Given the description of an element on the screen output the (x, y) to click on. 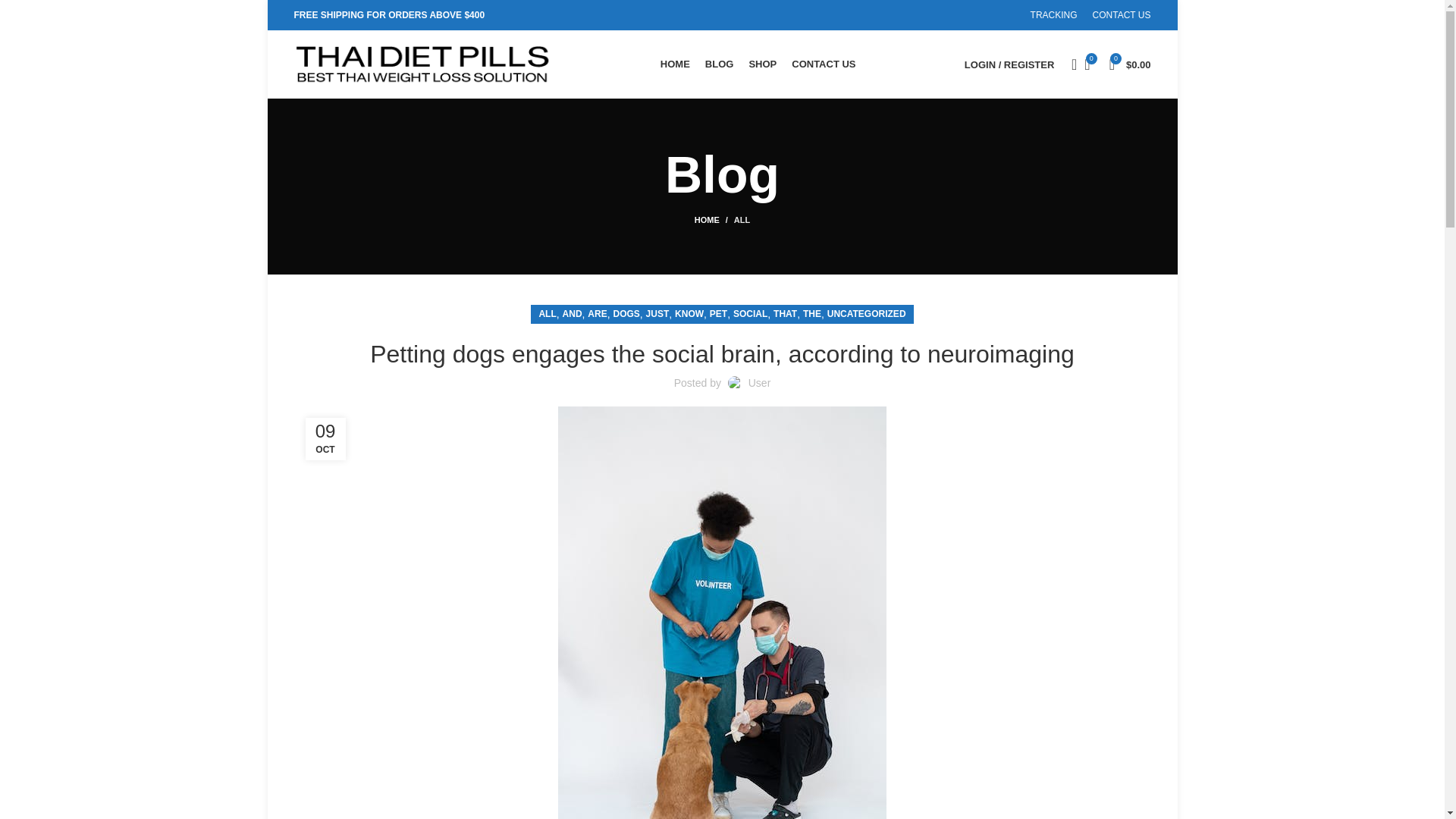
CONTACT US (824, 64)
UNCATEGORIZED (866, 313)
ALL (547, 313)
SHOP (762, 64)
THAT (784, 313)
Shopping cart (1130, 64)
KNOW (689, 313)
ALL (741, 219)
THE (812, 313)
User (759, 382)
